Given the description of an element on the screen output the (x, y) to click on. 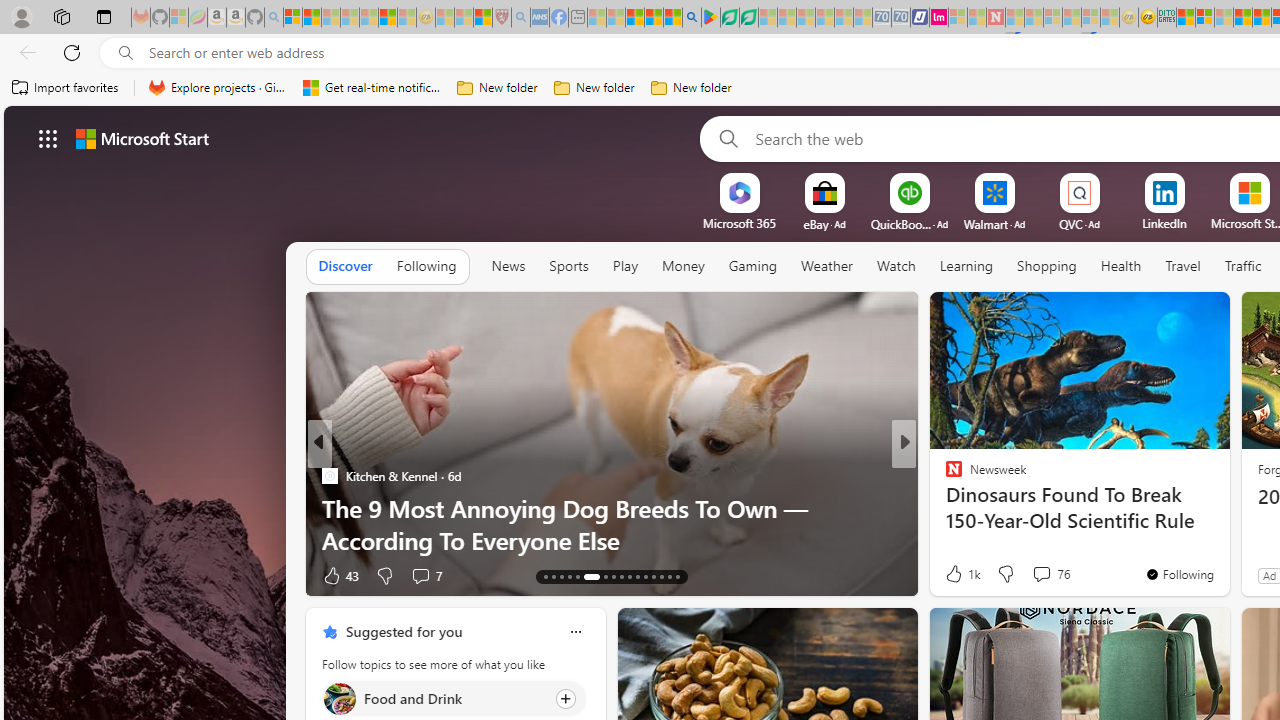
View comments 257 Comment (1042, 575)
AutomationID: tab-18 (585, 576)
Terms of Use Agreement (729, 17)
AutomationID: tab-15 (560, 576)
View comments 3 Comment (1036, 575)
